Given the description of an element on the screen output the (x, y) to click on. 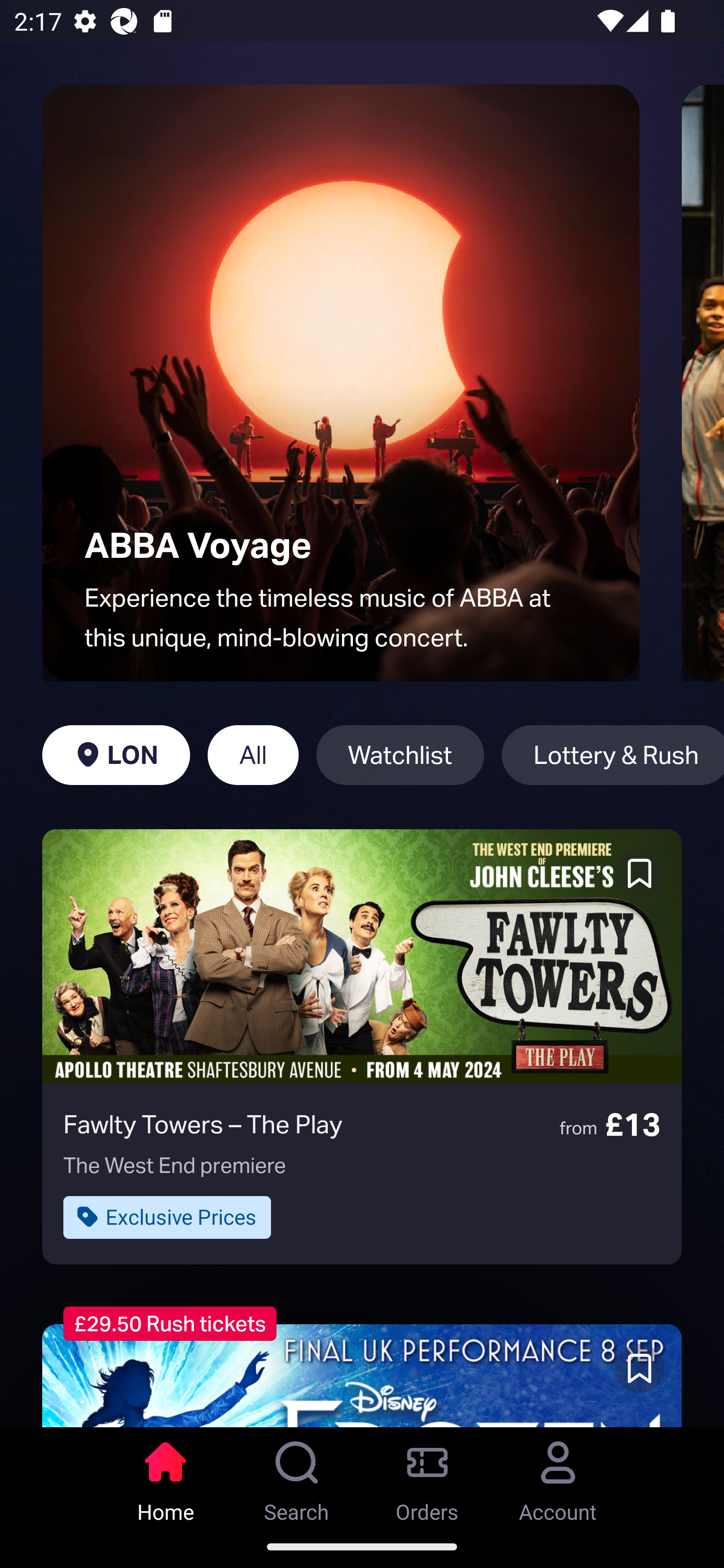
LON (115, 754)
All (252, 754)
Watchlist (400, 754)
Lottery & Rush (612, 754)
Search (296, 1475)
Orders (427, 1475)
Account (558, 1475)
